Given the description of an element on the screen output the (x, y) to click on. 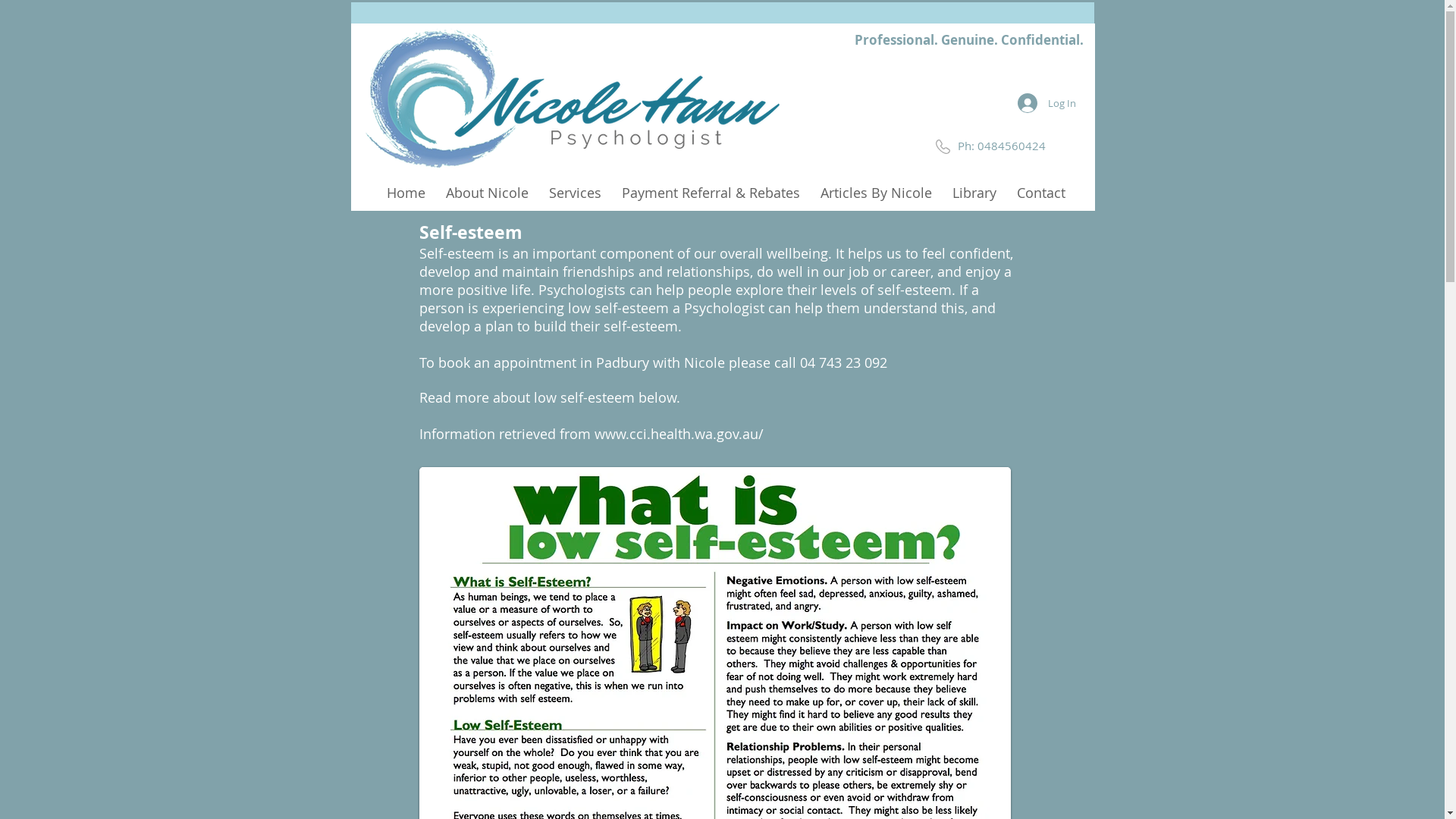
Contact Element type: text (1041, 191)
Home Element type: text (405, 191)
Services Element type: text (574, 191)
Payment Referral & Rebates Element type: text (710, 191)
About Nicole Element type: text (486, 191)
Log In Element type: text (1046, 102)
www.cci.health.wa.gov.au/ Element type: text (678, 433)
